Given the description of an element on the screen output the (x, y) to click on. 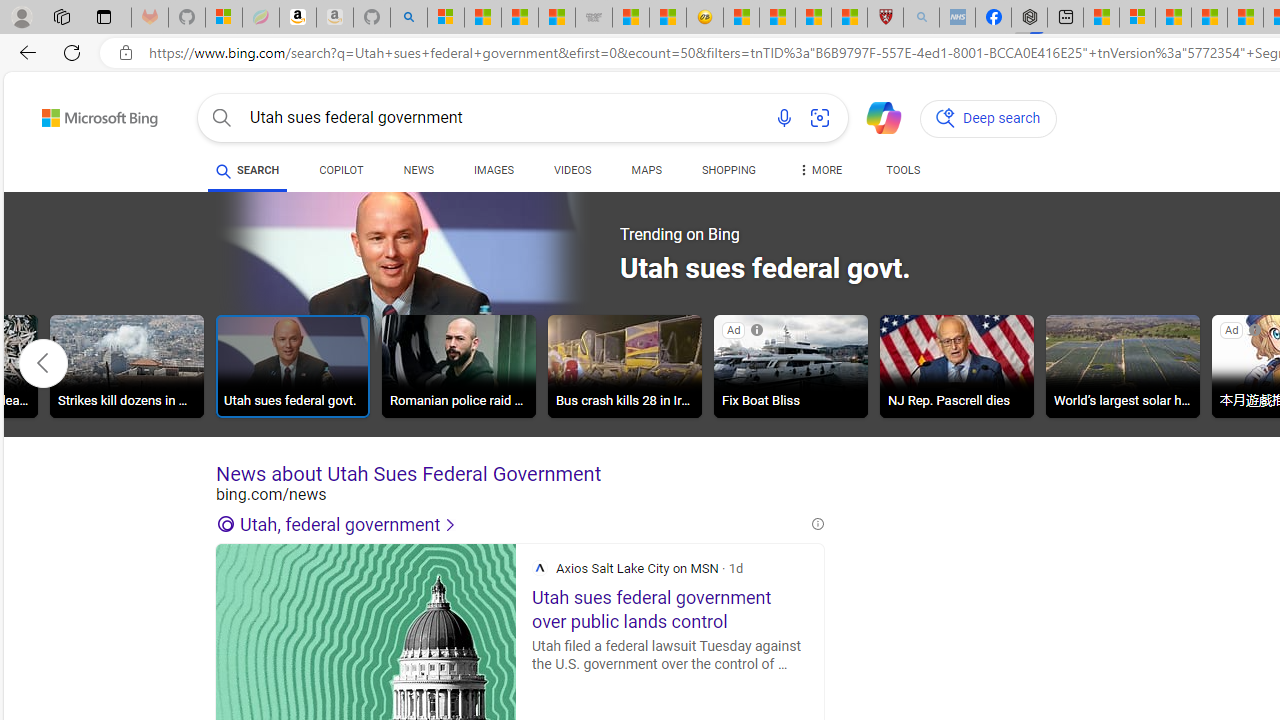
Utah sues federal govt. (292, 369)
NEWS (418, 173)
SHOPPING (728, 173)
MORE (819, 173)
